Given the description of an element on the screen output the (x, y) to click on. 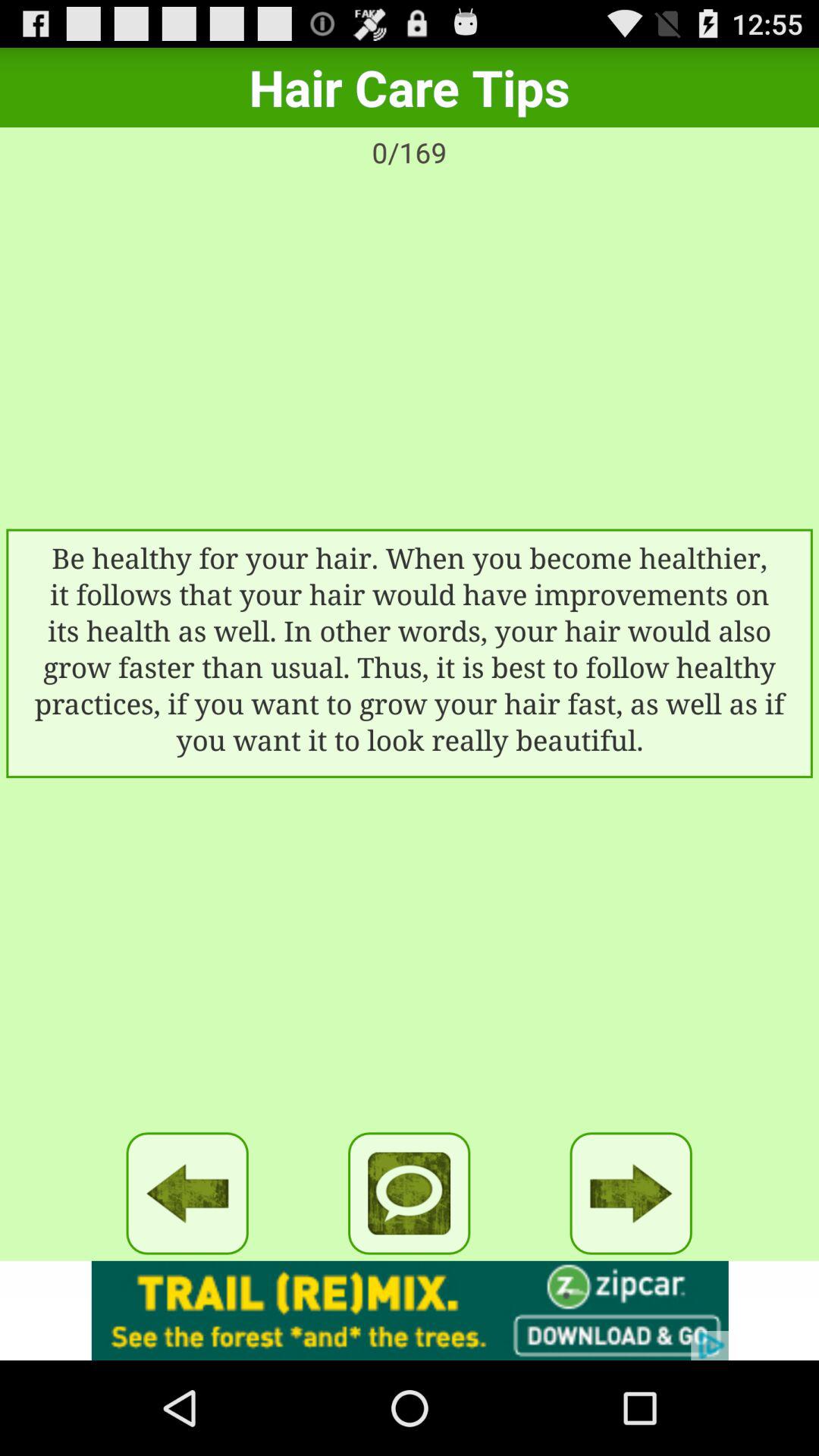
banner advertisement (409, 1310)
